Given the description of an element on the screen output the (x, y) to click on. 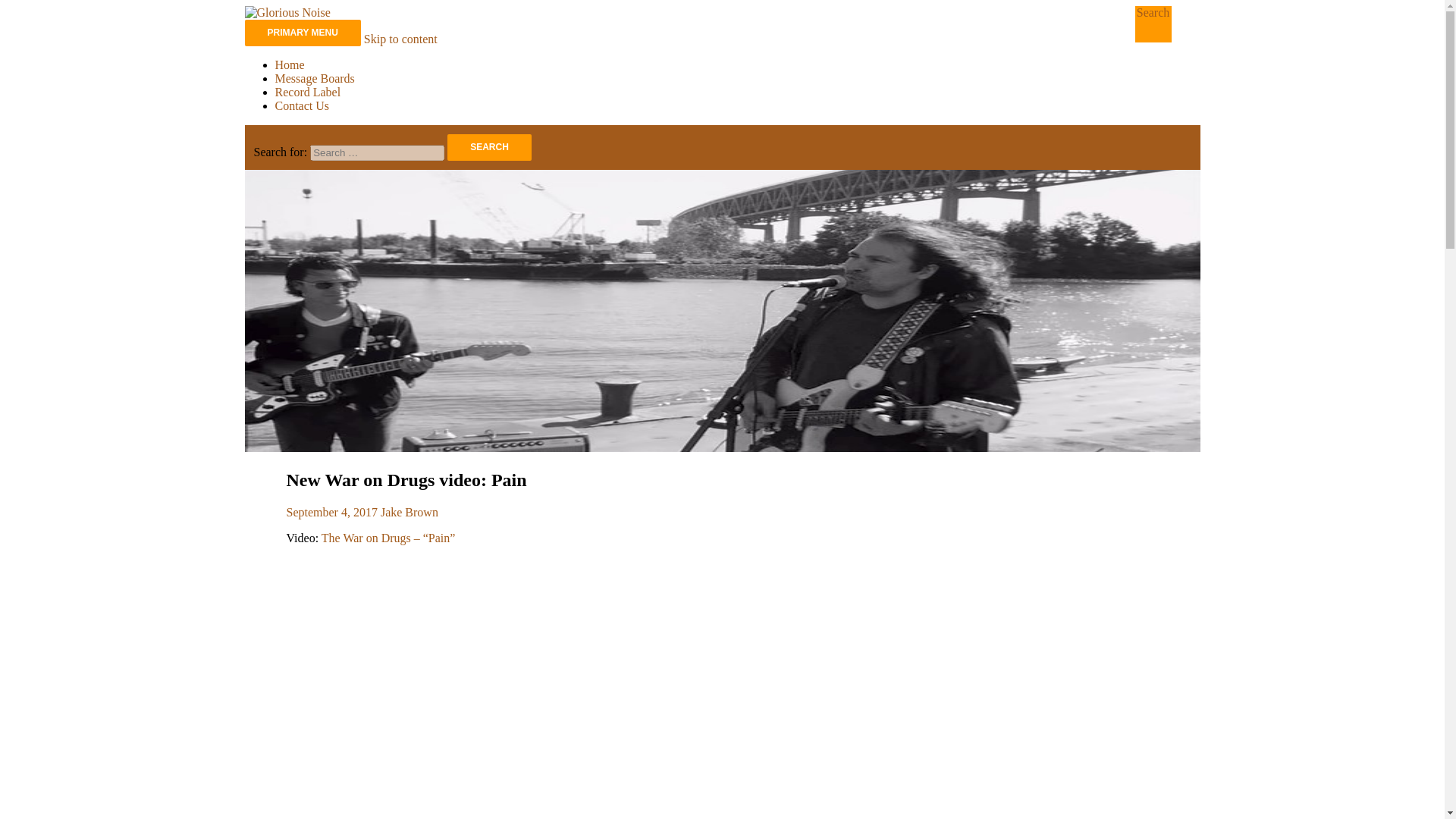
Search (488, 147)
Glorious Noise (320, 49)
Search (1153, 11)
Message Boards (314, 78)
Search (488, 147)
Jake Brown (409, 512)
September 4, 2017 (331, 512)
Contact Us (302, 105)
Home (289, 64)
PRIMARY MENU (301, 32)
Skip to content (401, 38)
Search (488, 147)
Record Label (307, 91)
